Given the description of an element on the screen output the (x, y) to click on. 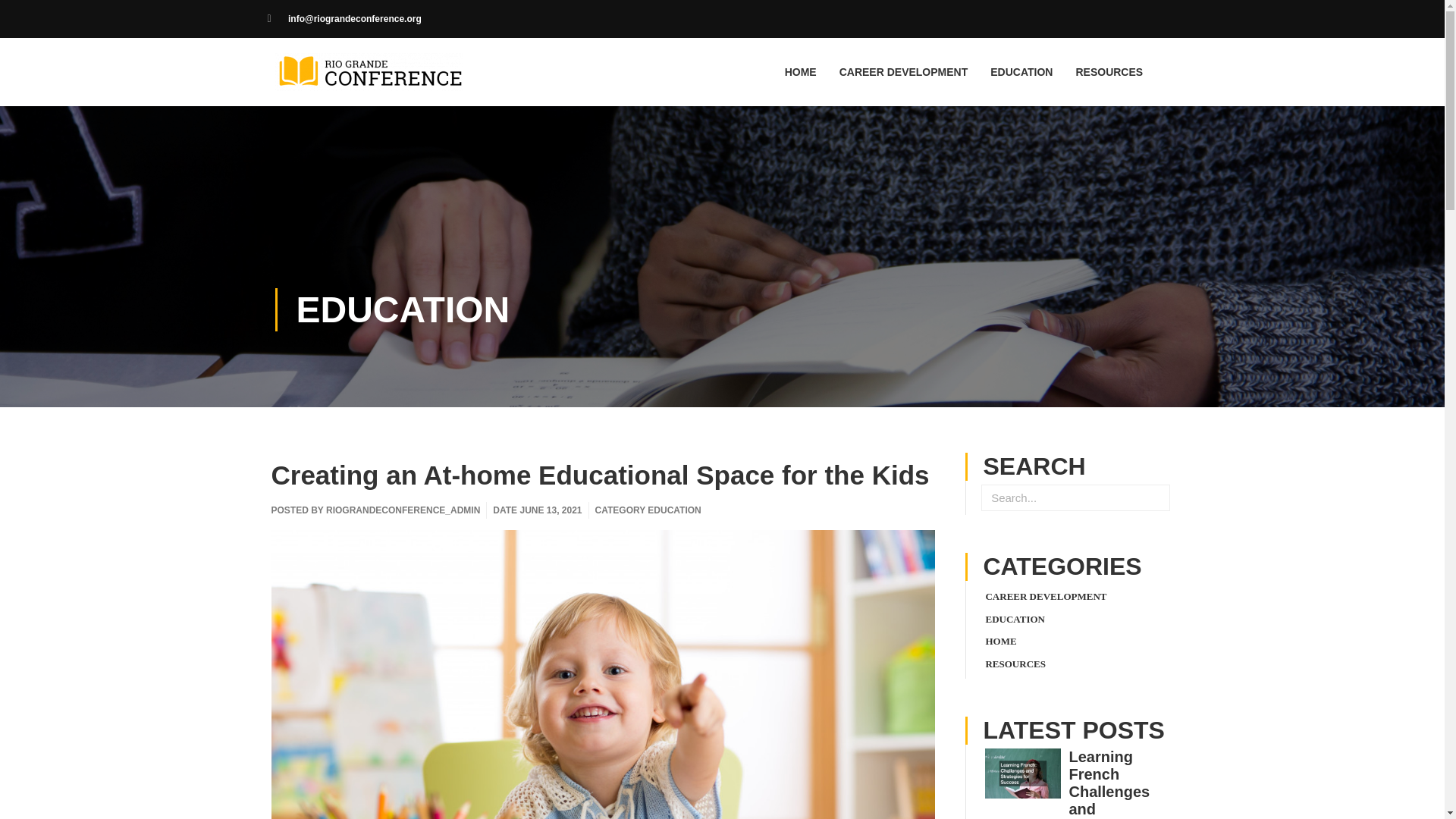
CAREER DEVELOPMENT (1045, 595)
CAREER DEVELOPMENT (904, 71)
HOME (800, 71)
EDUCATION (673, 510)
EDUCATION (1015, 618)
Search (1155, 497)
RESOURCES (1015, 663)
Learning French Challenges and Strategies for Success (1117, 783)
EDUCATION (402, 309)
riograndeconference-logo (368, 71)
